Given the description of an element on the screen output the (x, y) to click on. 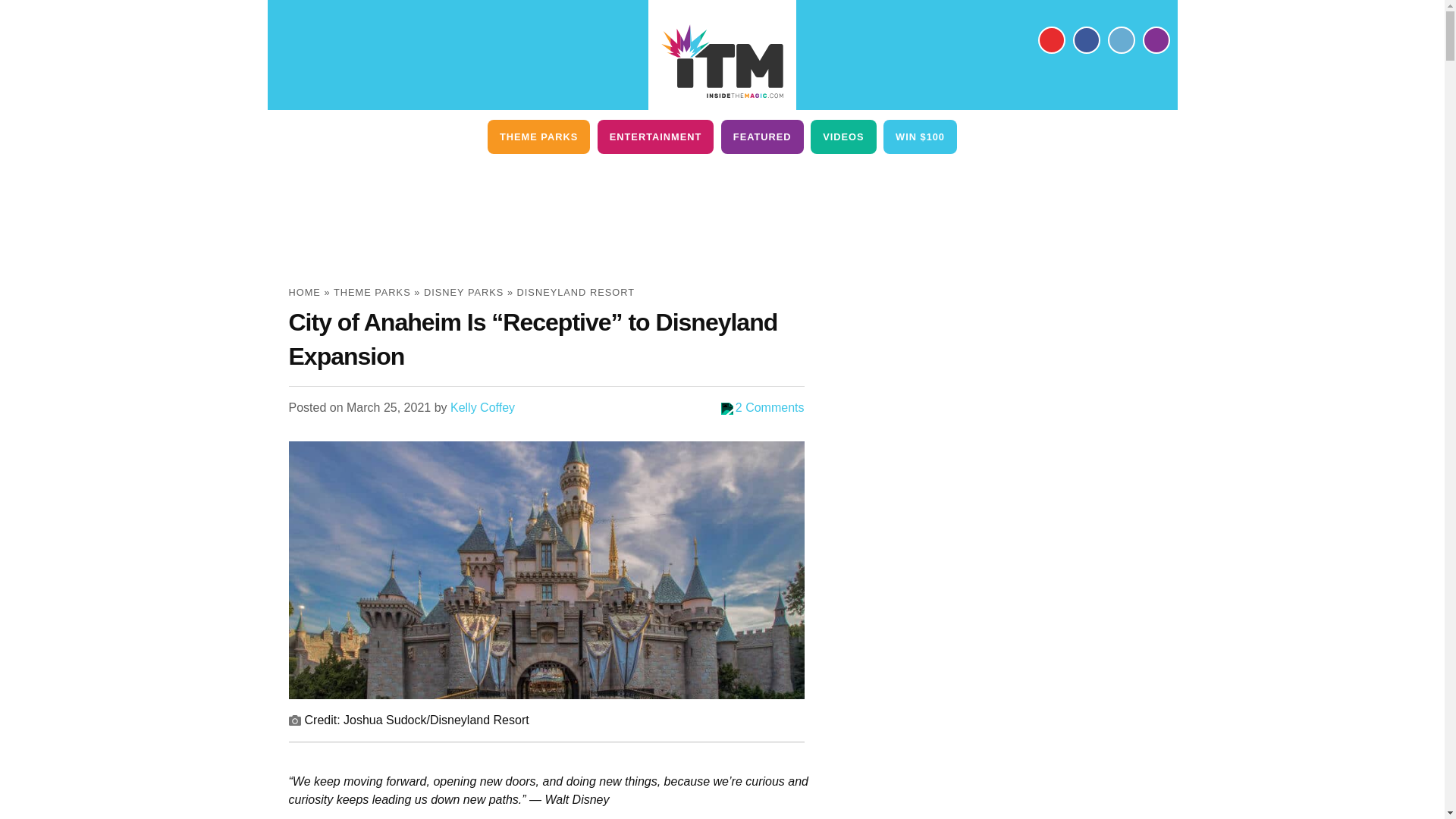
Facebook (1085, 40)
Twitter (1120, 40)
YouTube (1050, 40)
THEME PARKS (538, 136)
FEATURED (761, 136)
Search (1155, 40)
ENTERTAINMENT (655, 136)
